Given the description of an element on the screen output the (x, y) to click on. 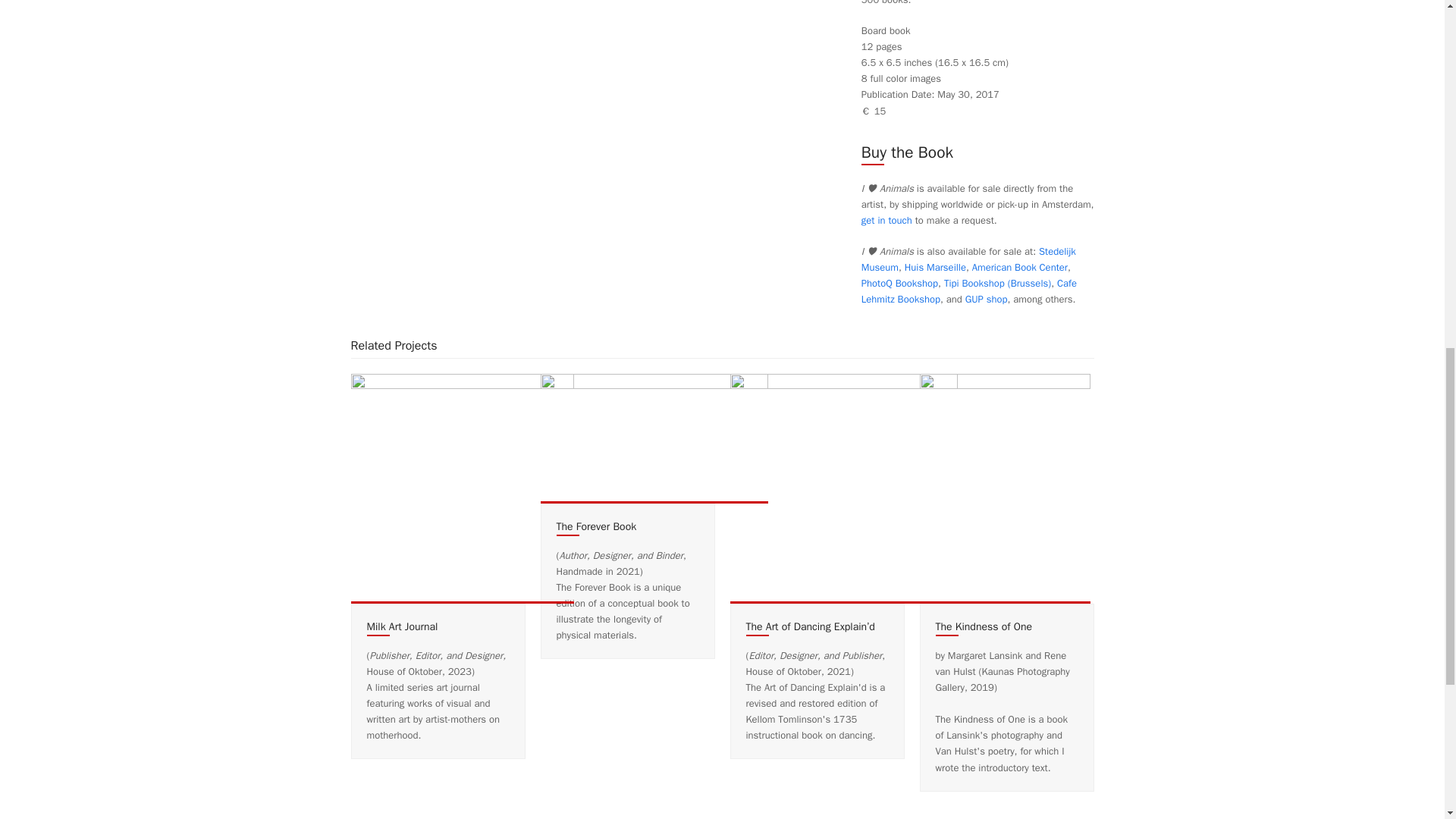
get in touch (886, 219)
American Book Center (1019, 267)
Milk Art Journal (402, 626)
The Kindness of One (1003, 487)
GUP shop (986, 298)
The Forever Book (653, 437)
The Kindness of One (984, 626)
PhotoQ Bookshop (899, 282)
Cafe Lehmitz Bookshop (969, 290)
Stedelijk Museum (968, 258)
